Given the description of an element on the screen output the (x, y) to click on. 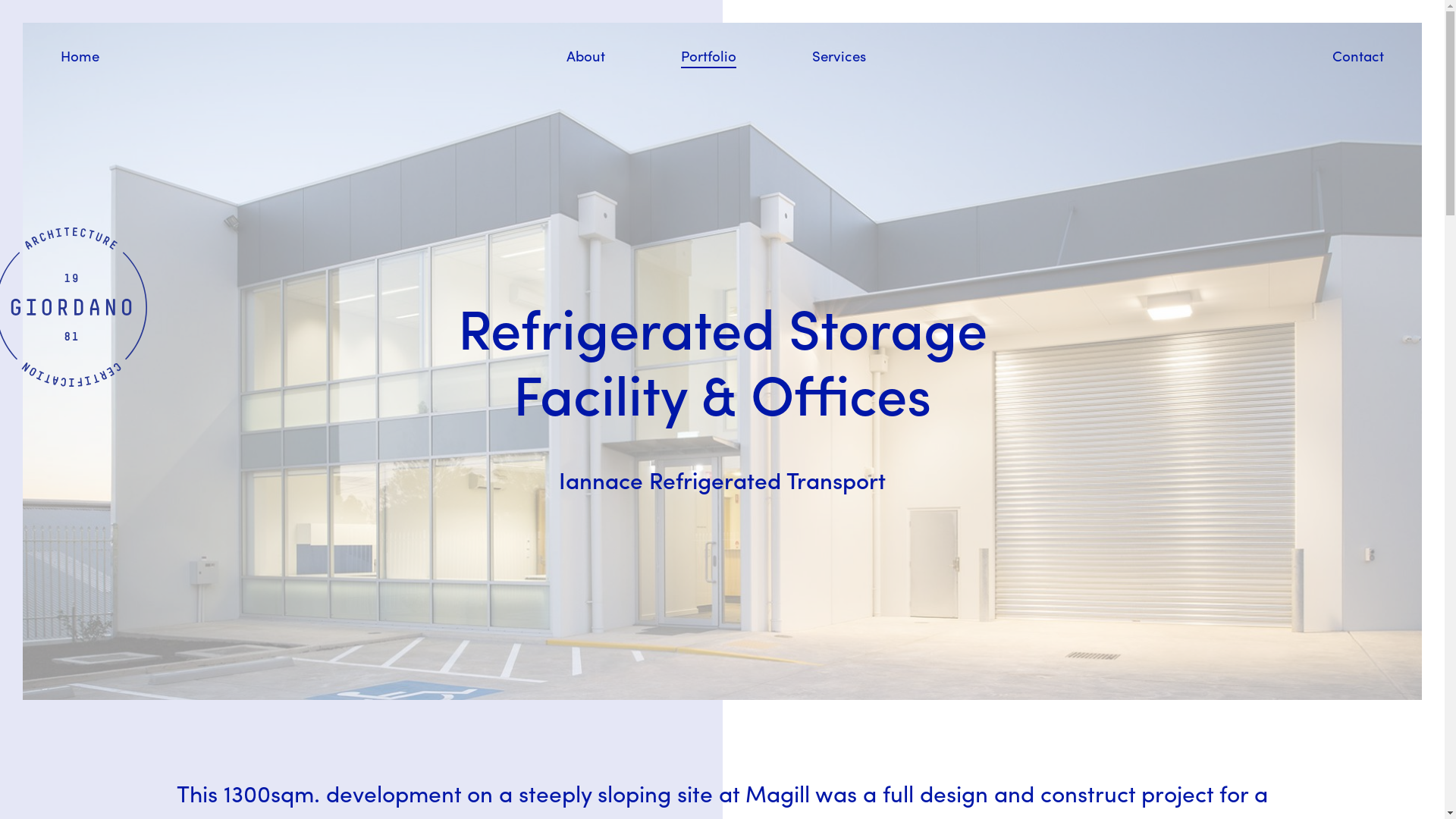
Contact Element type: text (1357, 56)
Home Element type: text (79, 56)
About Element type: text (584, 56)
Services Element type: text (838, 56)
Portfolio Element type: text (708, 56)
